Given the description of an element on the screen output the (x, y) to click on. 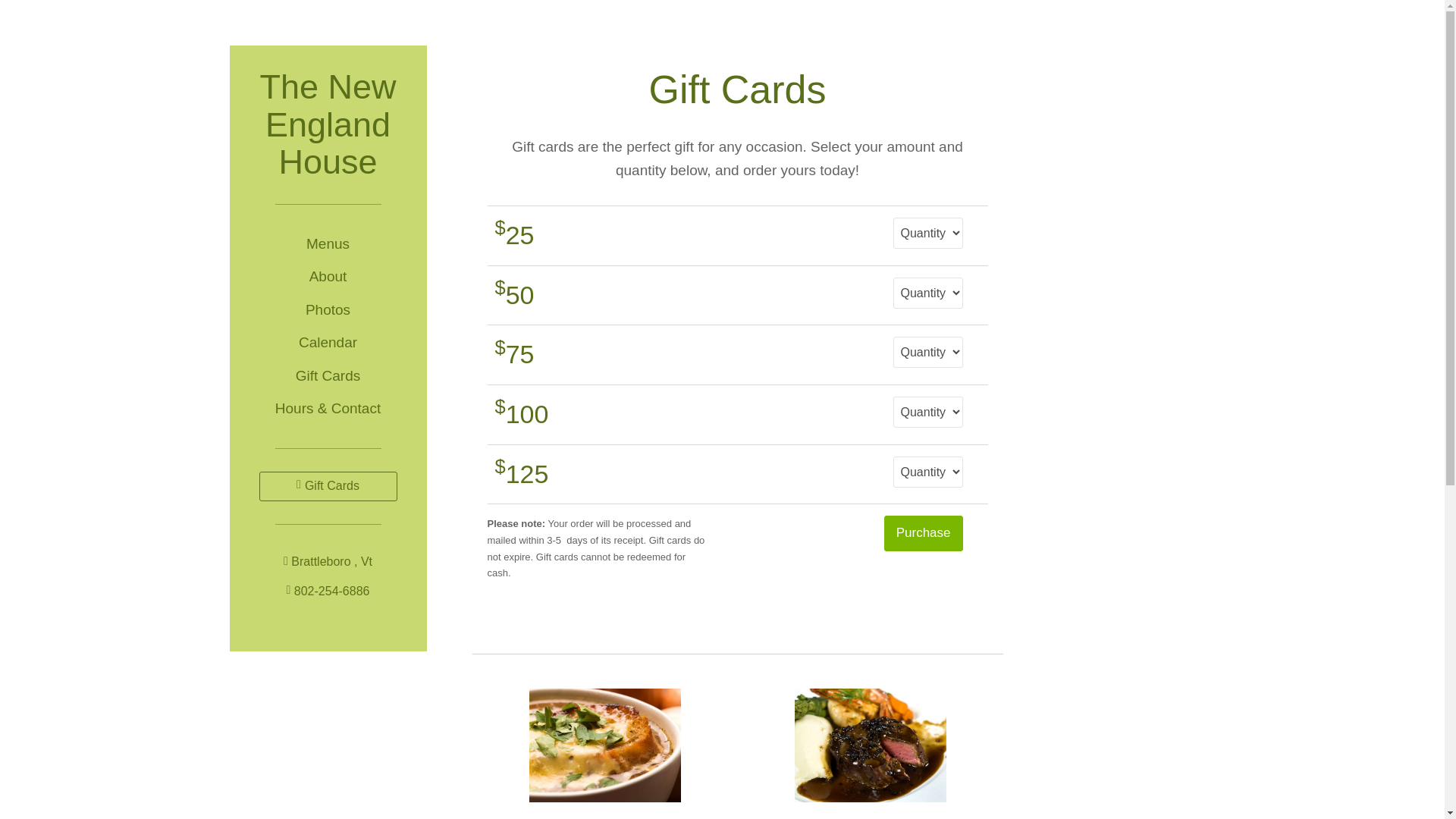
The New England House (327, 112)
Menus (327, 244)
Skip to main content (7, 7)
Purchase (922, 532)
About (327, 276)
Calendar (327, 342)
802-254-6886 (327, 591)
Gift Cards (327, 376)
